Given the description of an element on the screen output the (x, y) to click on. 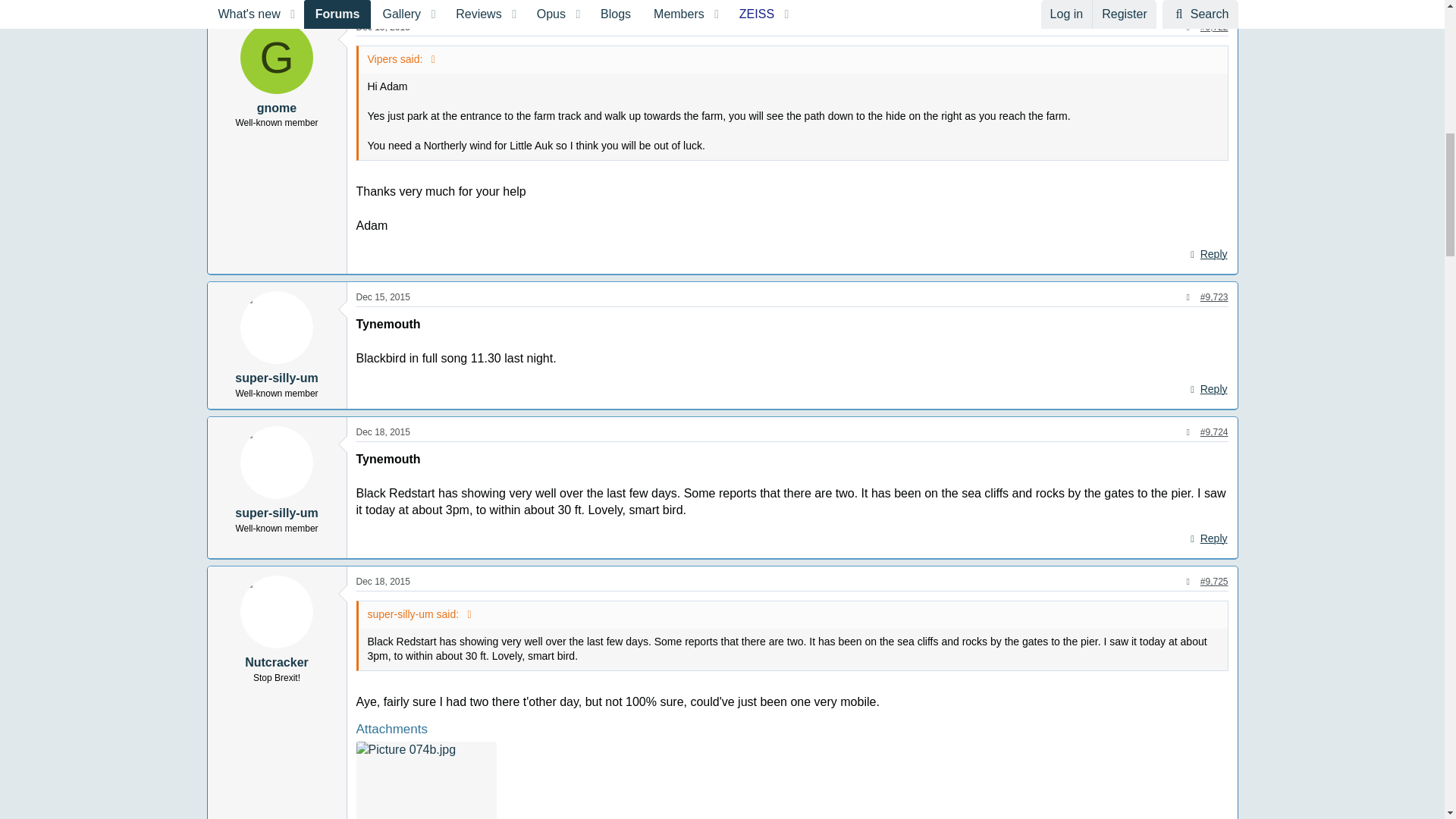
Dec 15, 2015 at 8:47 AM (383, 296)
Dec 18, 2015 at 9:18 PM (383, 431)
Reply, quoting this message (1207, 254)
Reply, quoting this message (1207, 389)
Dec 15, 2015 at 8:19 AM (383, 27)
